Given the description of an element on the screen output the (x, y) to click on. 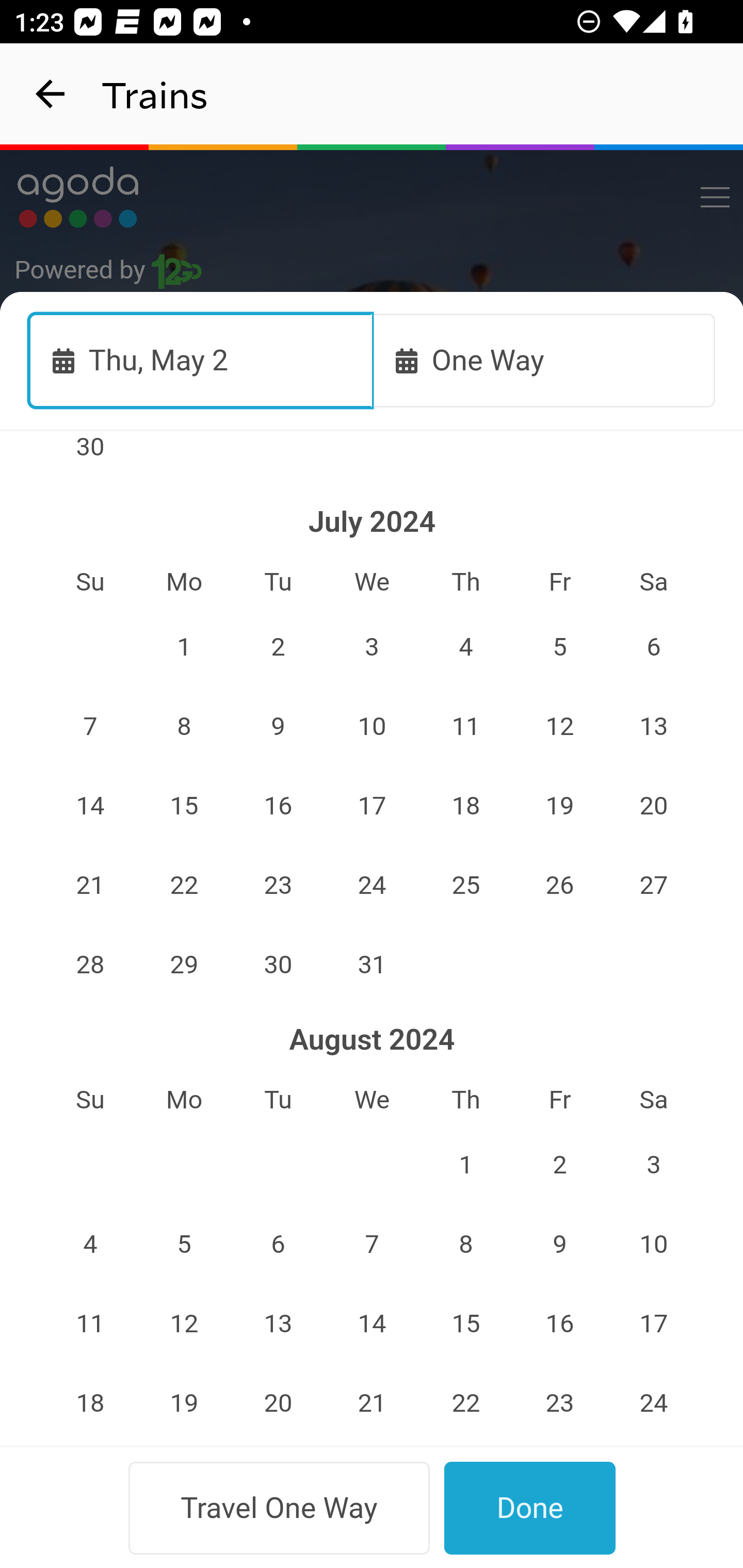
navigation_button (50, 93)
Thu, May 2 (200, 359)
One Way (544, 359)
30 (90, 458)
Manchester Swap trip points (372, 576)
1 (184, 647)
2 (278, 647)
3 (372, 647)
4 (465, 647)
5 (559, 647)
6 (654, 647)
7 (90, 726)
8 (184, 726)
9 (278, 726)
10 (372, 726)
11 (465, 726)
12 (559, 726)
13 (654, 726)
14 (90, 805)
15 (184, 805)
16 (278, 805)
17 (372, 805)
18 (465, 805)
19 (559, 805)
20 (654, 805)
21 (90, 885)
22 (184, 885)
23 (278, 885)
25 (465, 885)
26 (559, 885)
27 (654, 885)
28 (90, 964)
29 (184, 964)
30 (278, 964)
31 (372, 964)
1 (465, 1164)
2 (559, 1164)
3 (654, 1164)
4 (90, 1244)
5 (184, 1244)
6 (278, 1244)
7 (372, 1244)
8 (465, 1244)
9 (559, 1244)
10 (654, 1244)
11 (90, 1324)
12 (184, 1324)
13 (278, 1324)
14 (372, 1324)
15 (465, 1324)
16 (559, 1324)
17 (654, 1324)
18 (90, 1403)
19 (184, 1403)
20 (278, 1403)
21 (372, 1403)
22 (465, 1403)
23 (559, 1403)
24 (654, 1403)
Travel One Way (278, 1508)
Done (530, 1508)
